Given the description of an element on the screen output the (x, y) to click on. 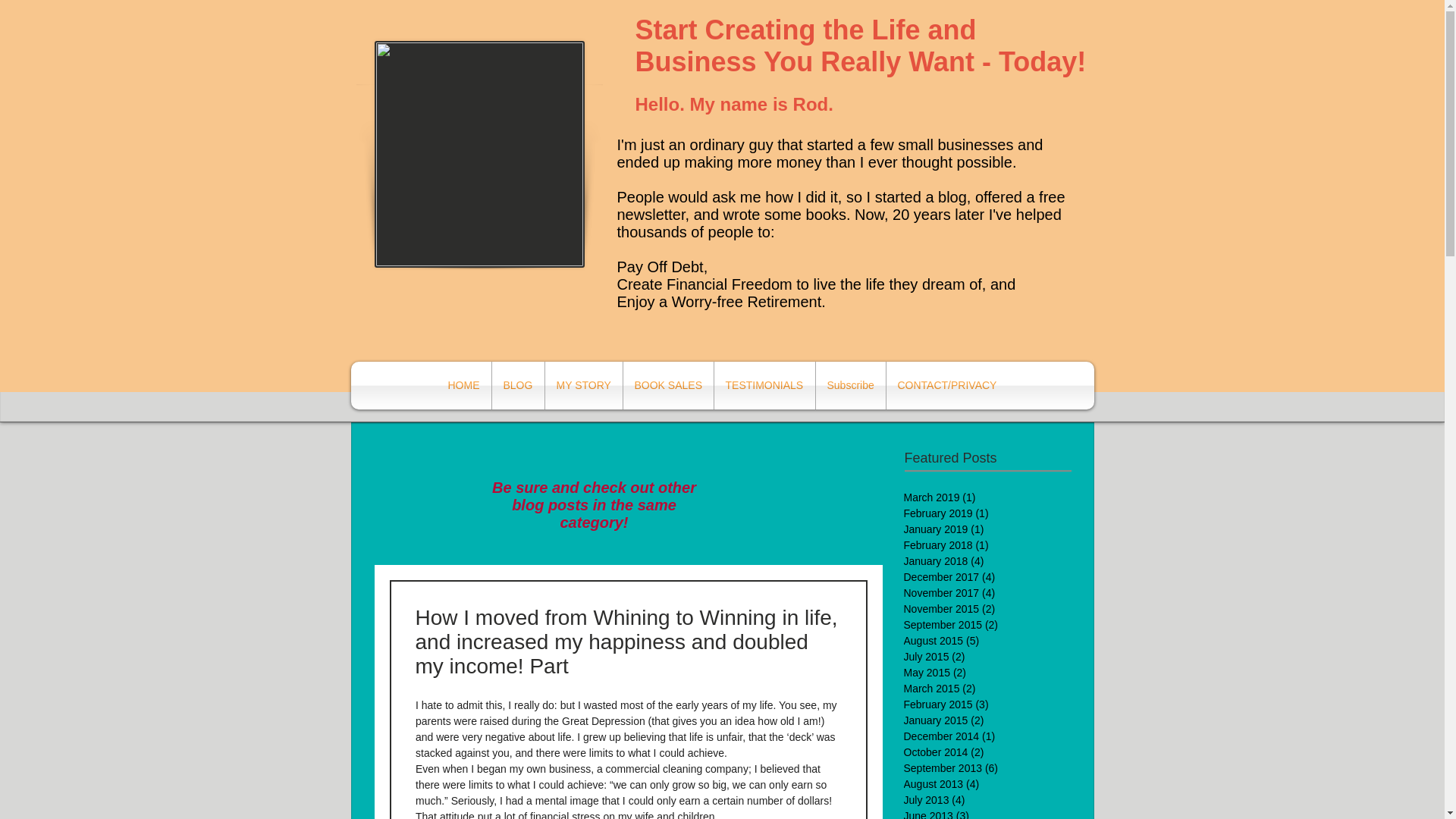
Subscribe (850, 385)
imgRod.png (479, 153)
BOOK SALES (668, 385)
TESTIMONIALS (764, 385)
HOME (464, 385)
BLOG (517, 385)
MY STORY (582, 385)
